Given the description of an element on the screen output the (x, y) to click on. 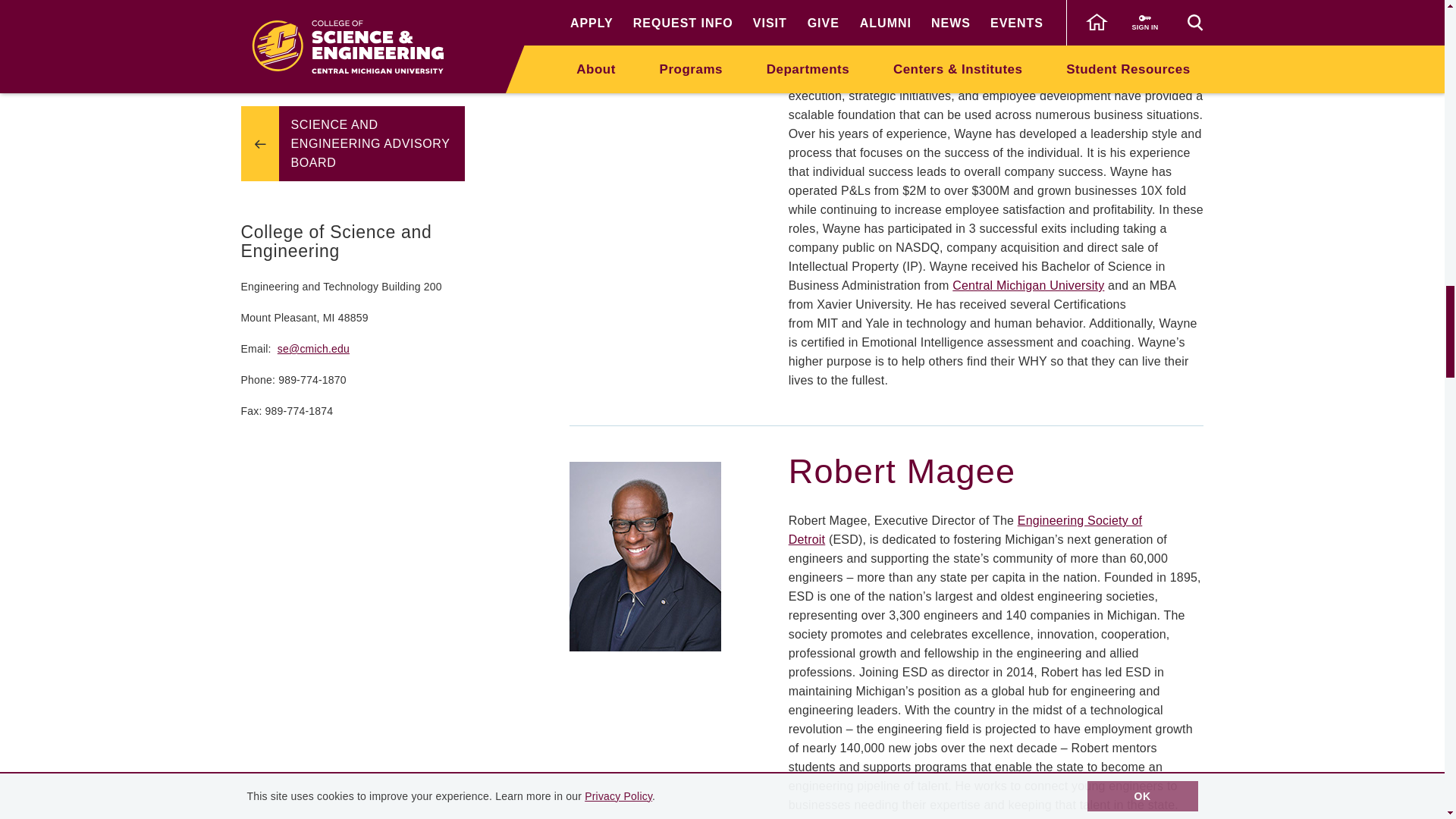
Engineering Society of Detroit (965, 530)
